Given the description of an element on the screen output the (x, y) to click on. 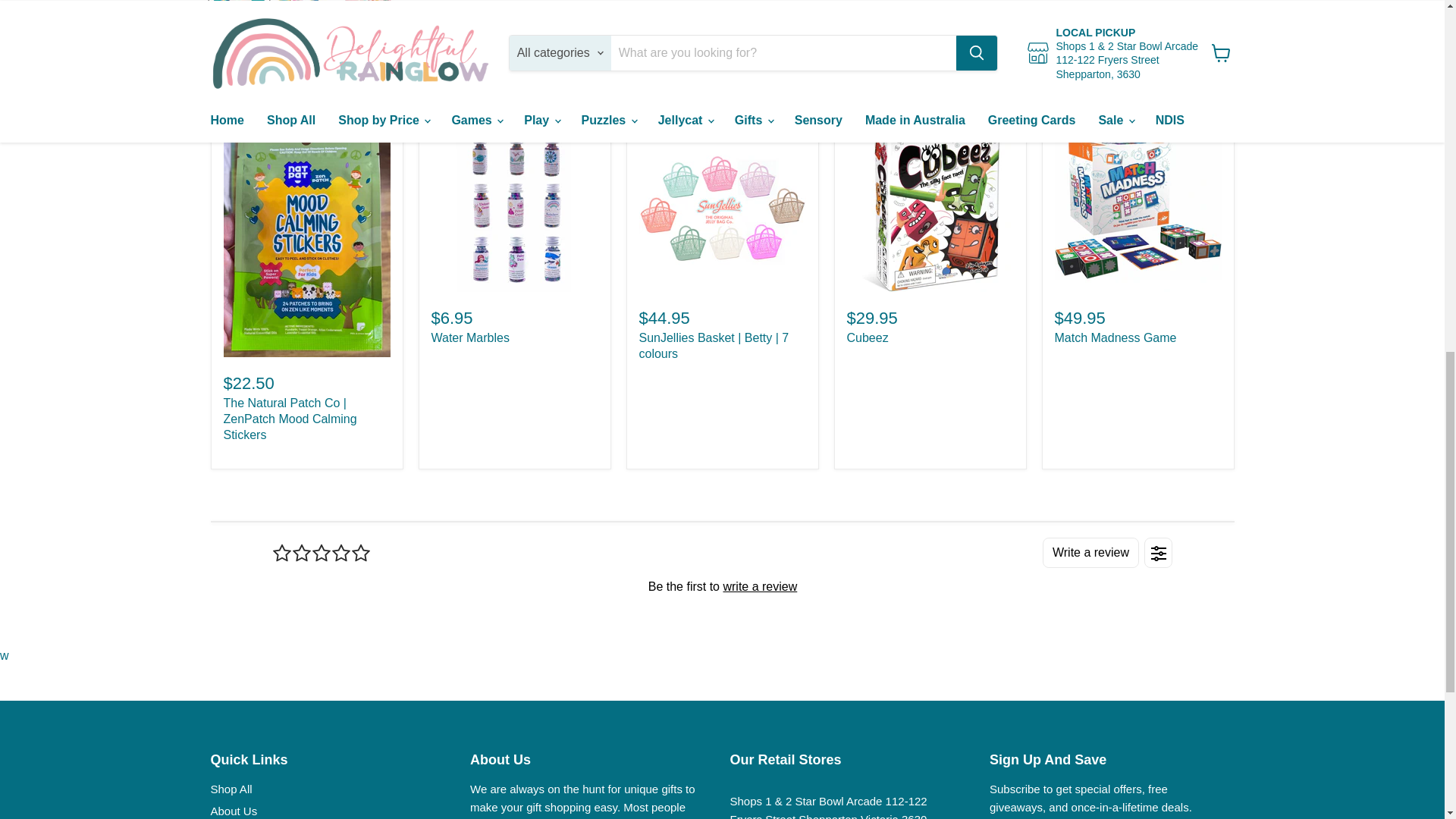
Product reviews widget (721, 585)
